Given the description of an element on the screen output the (x, y) to click on. 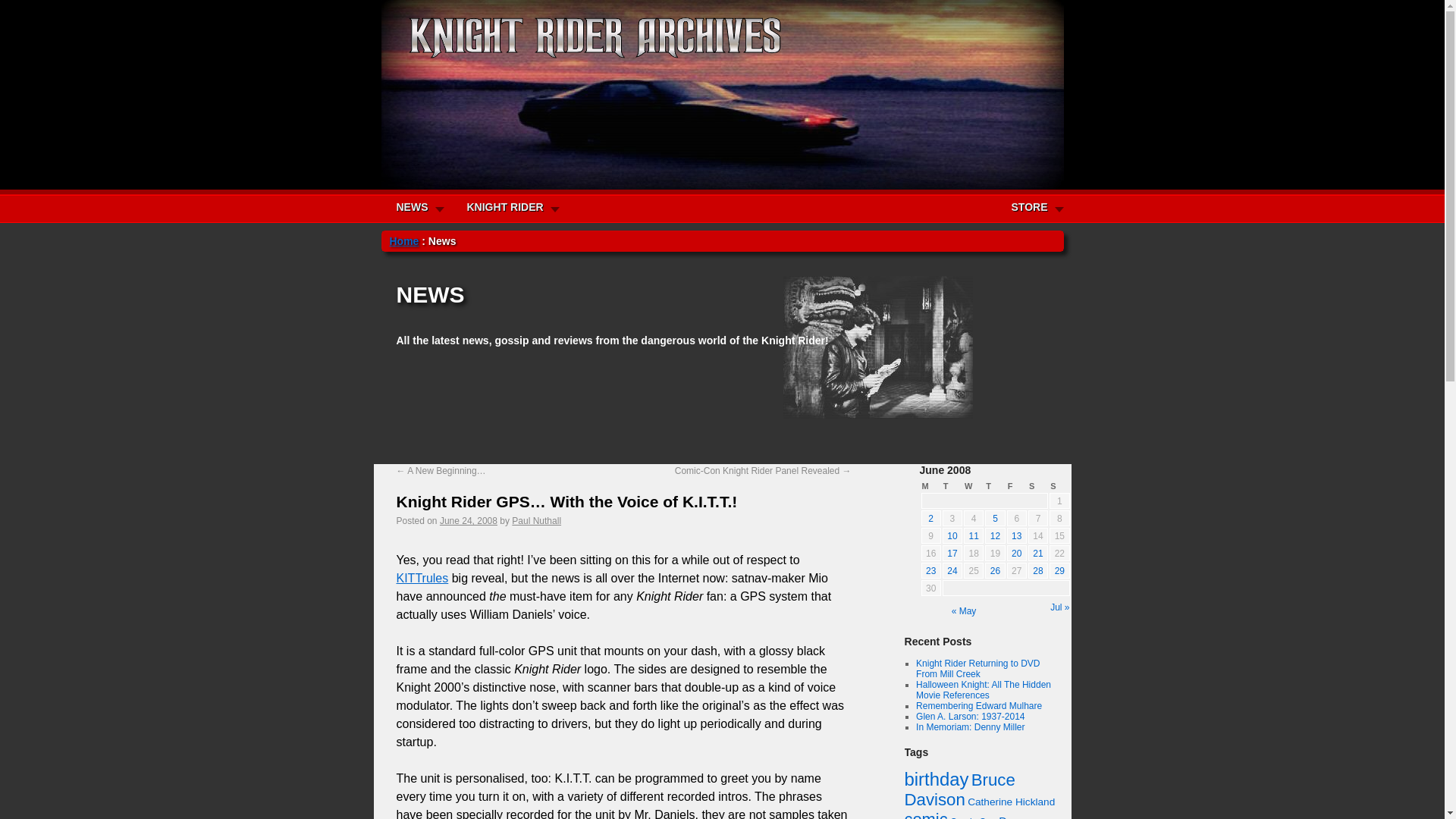
Knight Rider Archives (585, 36)
Sunday (1058, 485)
Saturday (1037, 485)
4 topics (972, 817)
View all posts by Paul Nuthall (536, 520)
Monday (930, 485)
24 topics (936, 779)
KNIGHT RIDER (513, 206)
Friday (1016, 485)
9:14 am (468, 520)
